Given the description of an element on the screen output the (x, y) to click on. 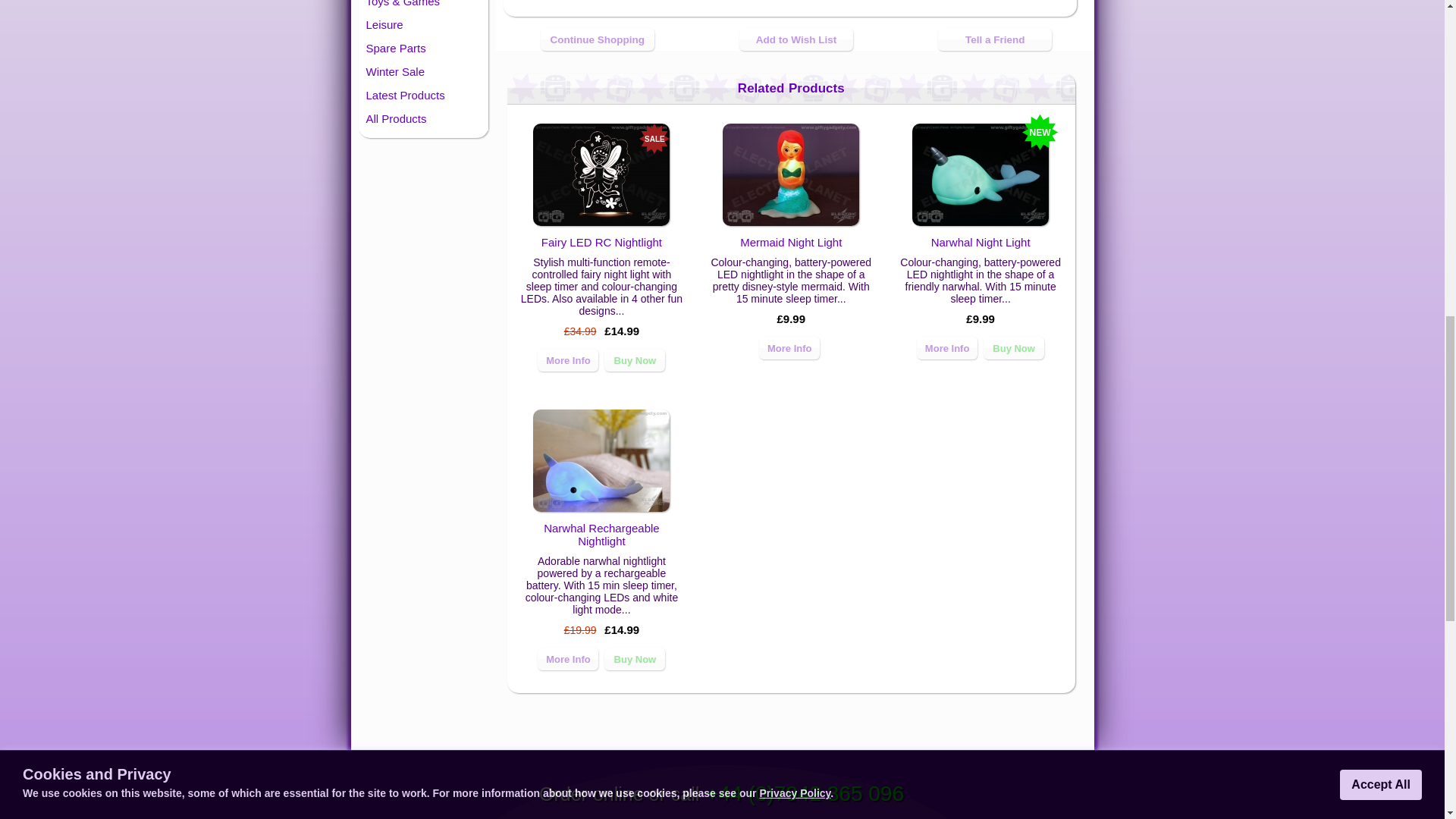
All Products (422, 118)
Leisure (422, 24)
Winter Sale (422, 71)
Latest Products (422, 95)
Spare Parts (422, 47)
